Given the description of an element on the screen output the (x, y) to click on. 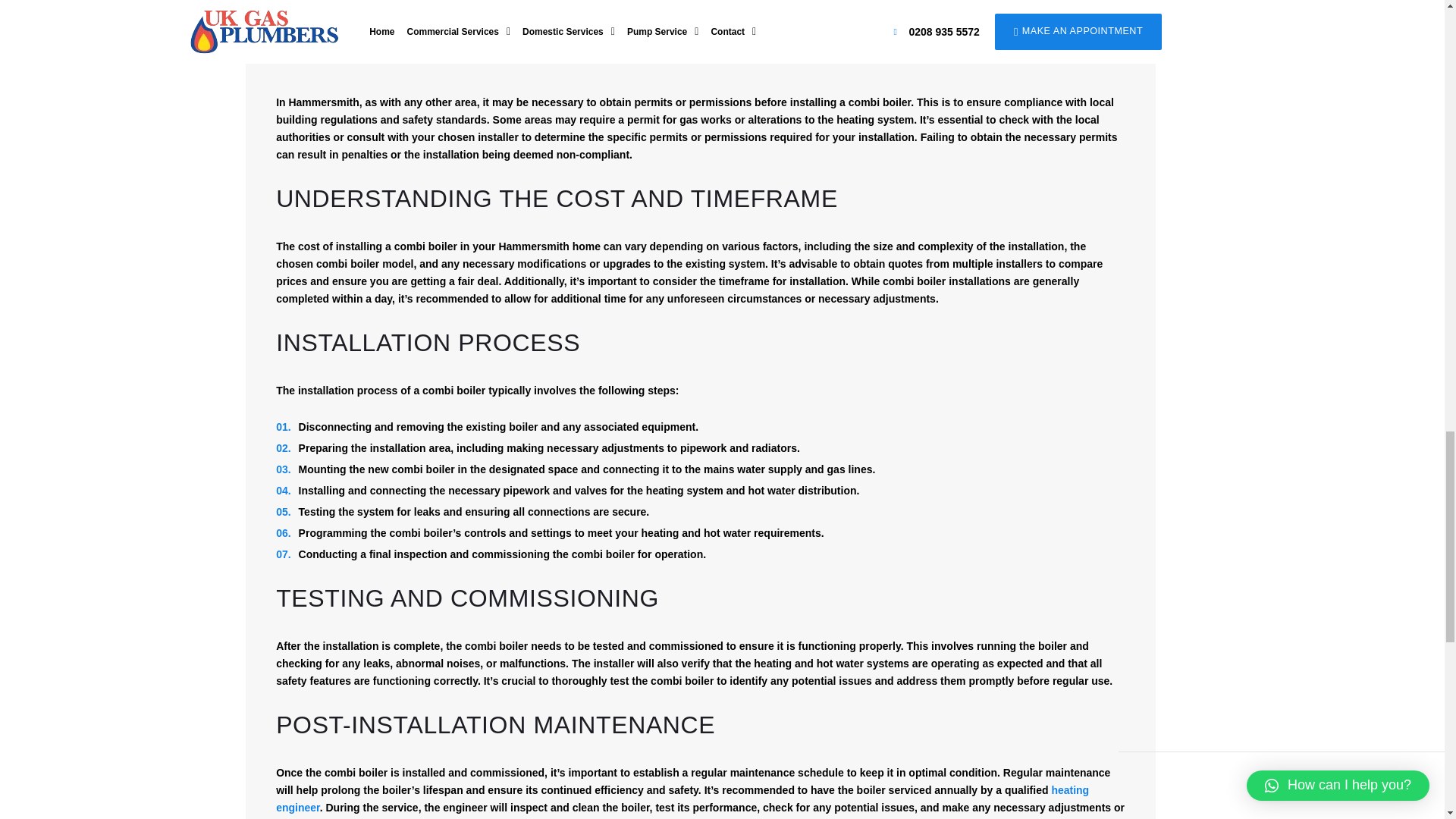
Heating Engineer Guildford (682, 798)
